Given the description of an element on the screen output the (x, y) to click on. 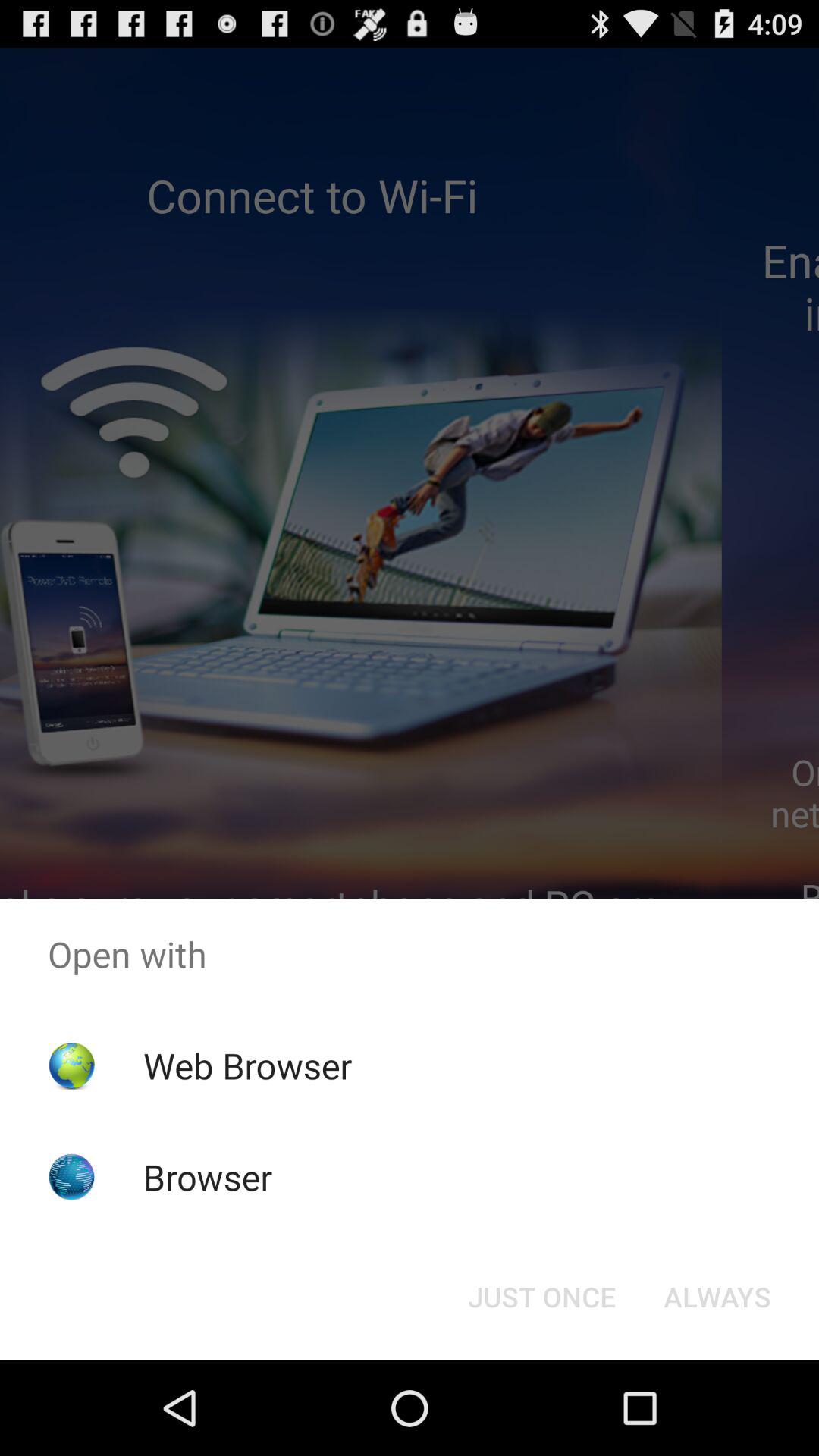
click the button next to always button (541, 1296)
